Given the description of an element on the screen output the (x, y) to click on. 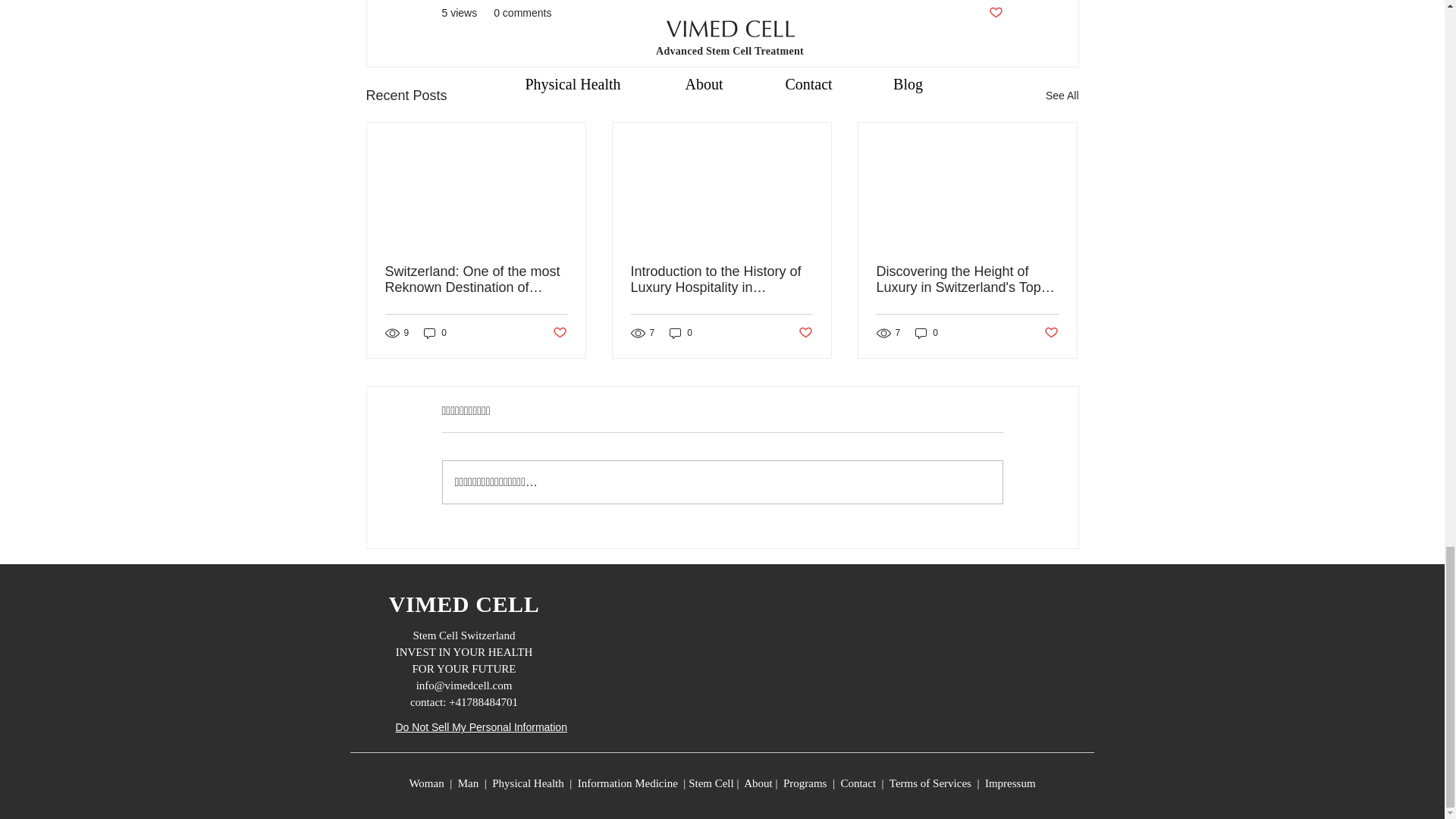
Post not marked as liked (995, 12)
See All (1061, 96)
